Given the description of an element on the screen output the (x, y) to click on. 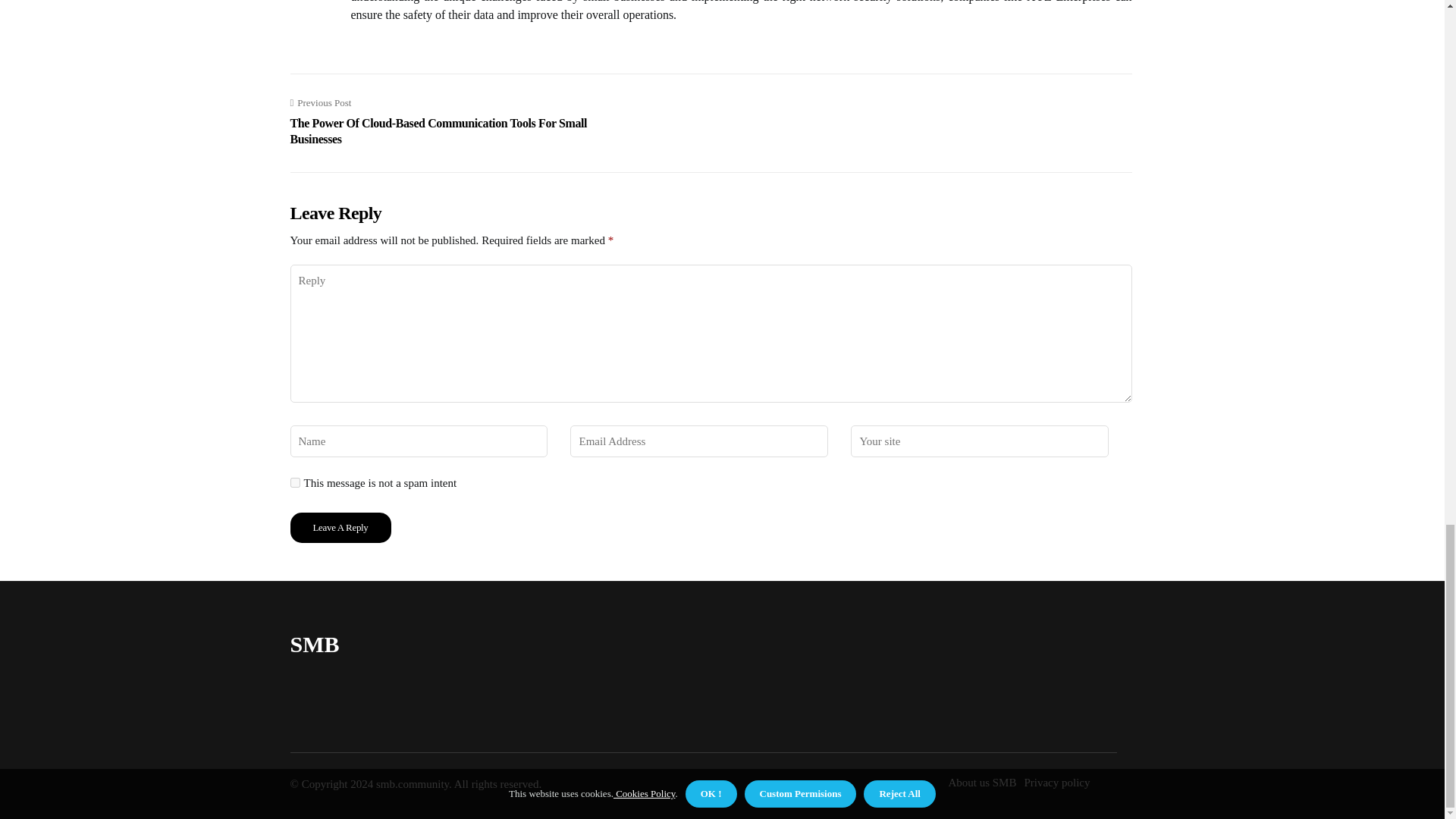
yes (294, 482)
Leave a Reply (339, 527)
